Given the description of an element on the screen output the (x, y) to click on. 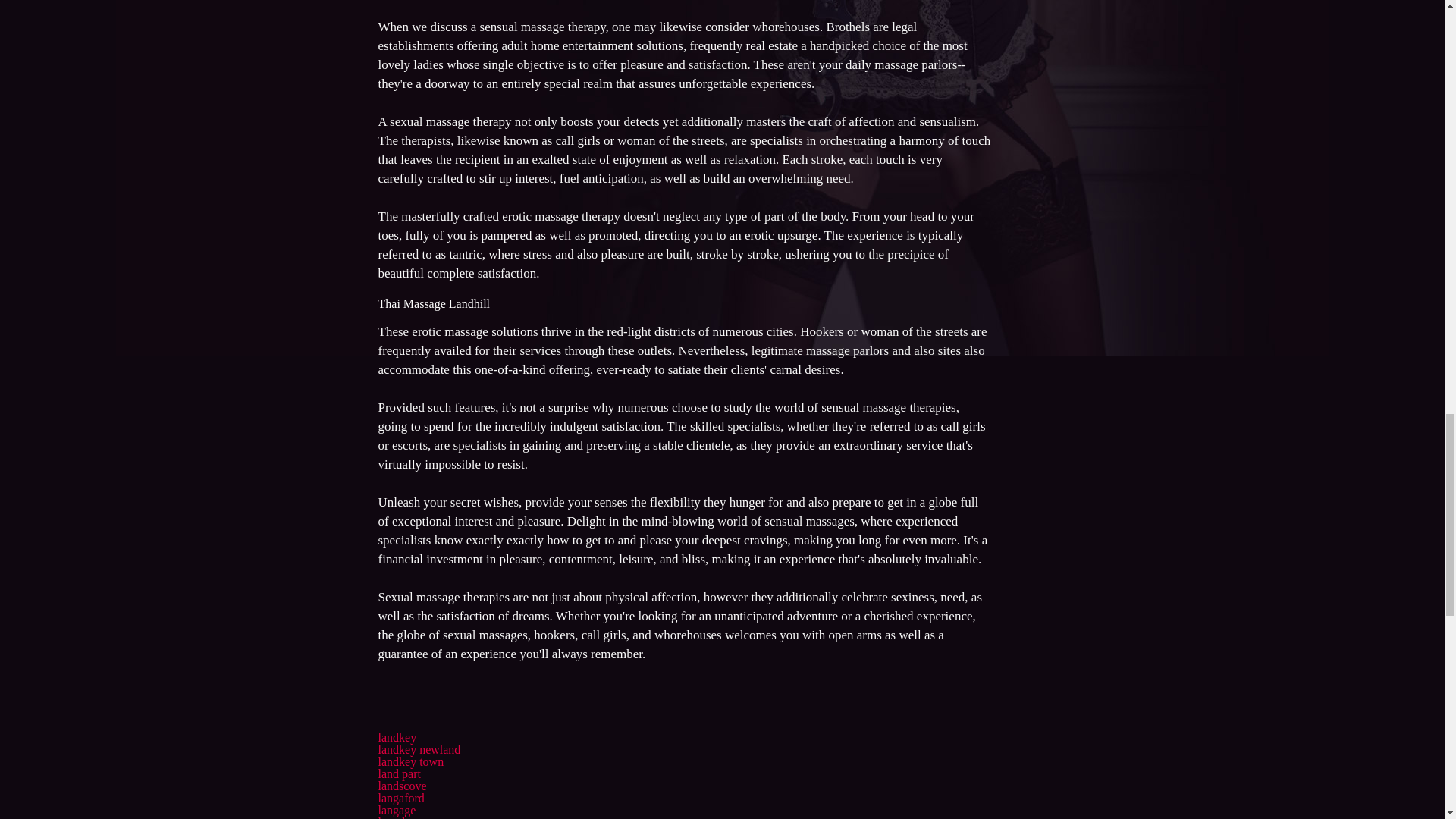
langaford (400, 797)
landkey newland (418, 748)
langage (395, 809)
land part (398, 773)
langdown (401, 817)
landkey town (410, 761)
landkey (396, 737)
landscove (401, 785)
